Given the description of an element on the screen output the (x, y) to click on. 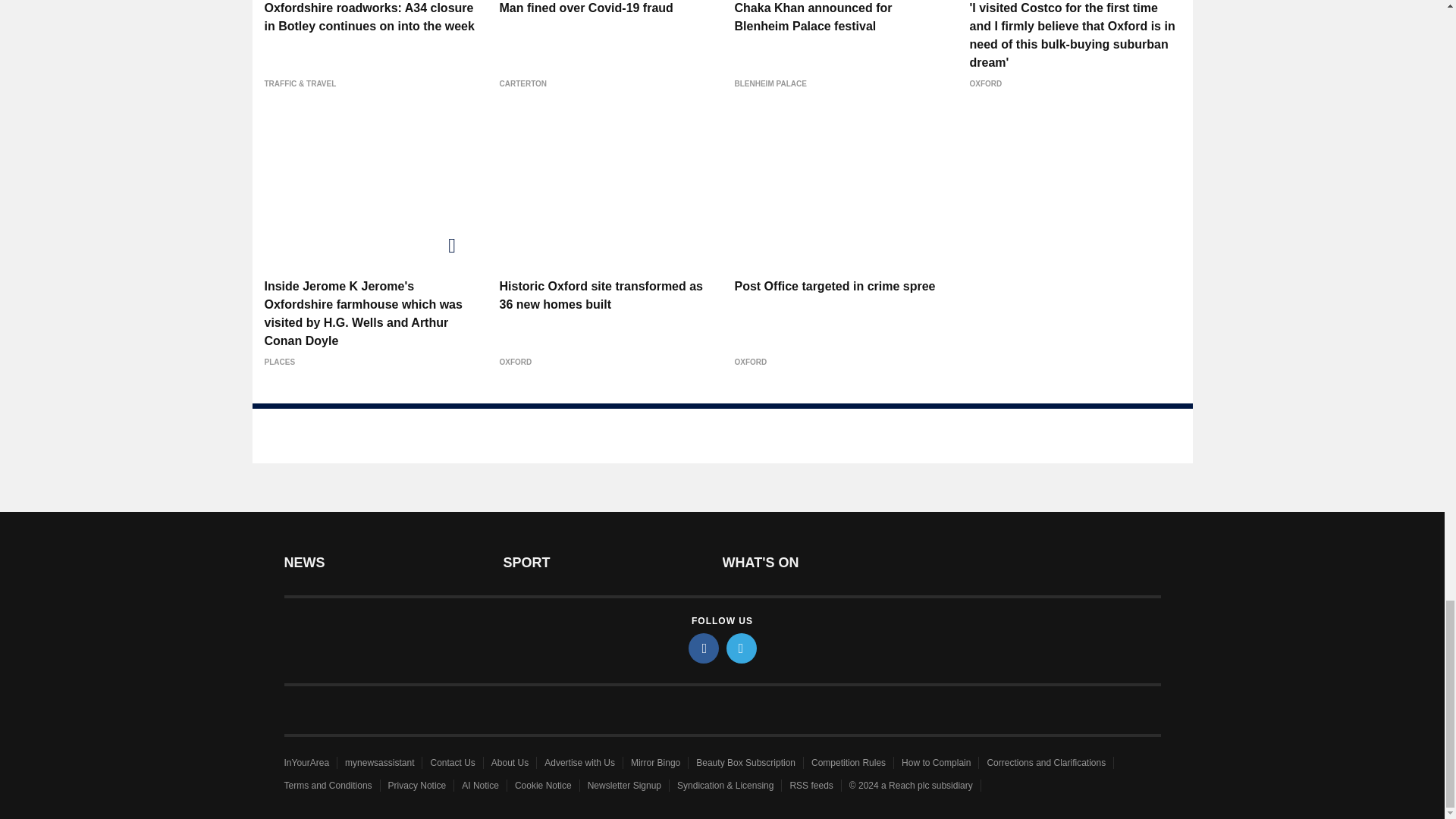
twitter (741, 648)
facebook (703, 648)
